Given the description of an element on the screen output the (x, y) to click on. 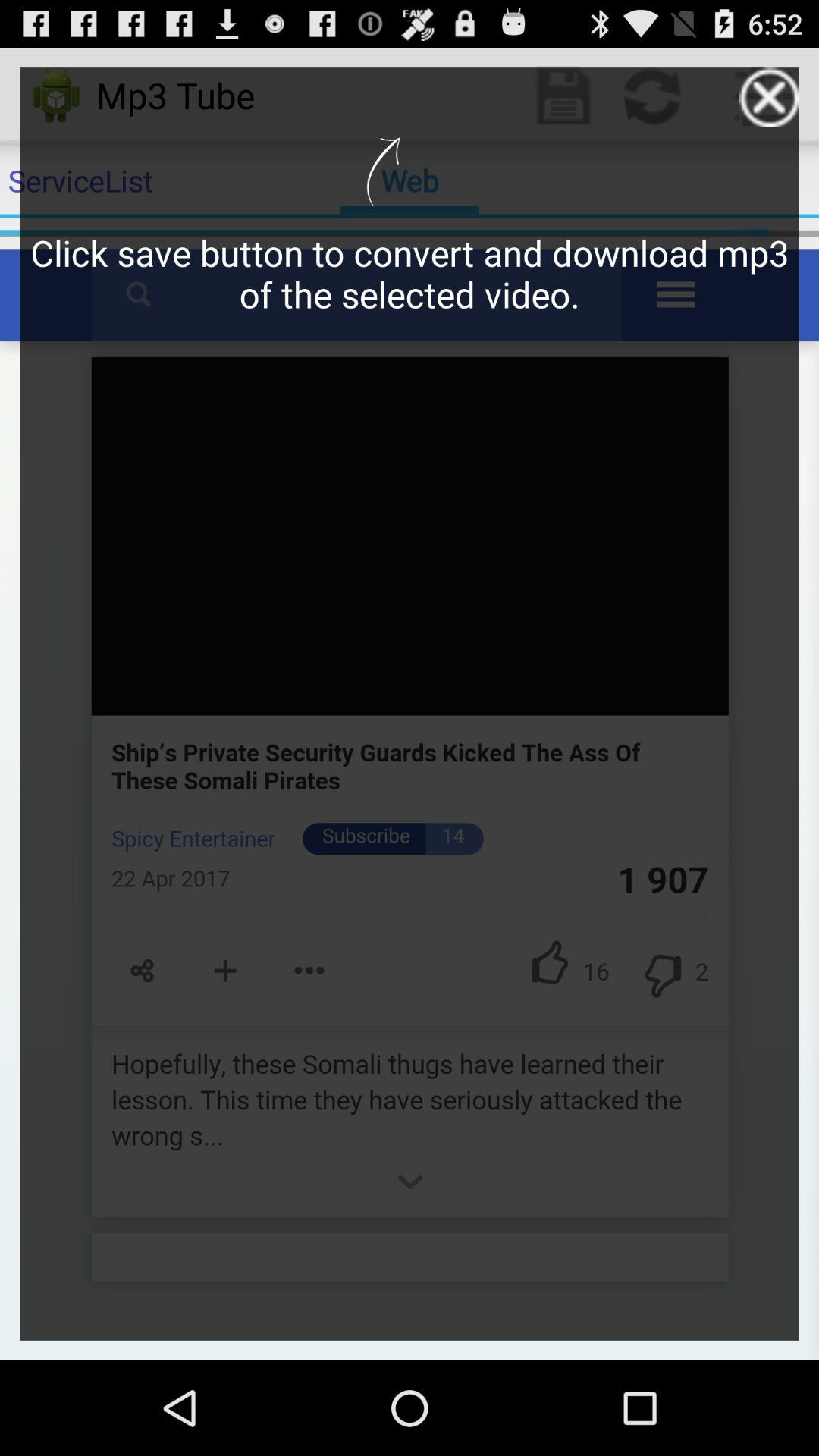
turn off icon next to g icon (769, 97)
